Given the description of an element on the screen output the (x, y) to click on. 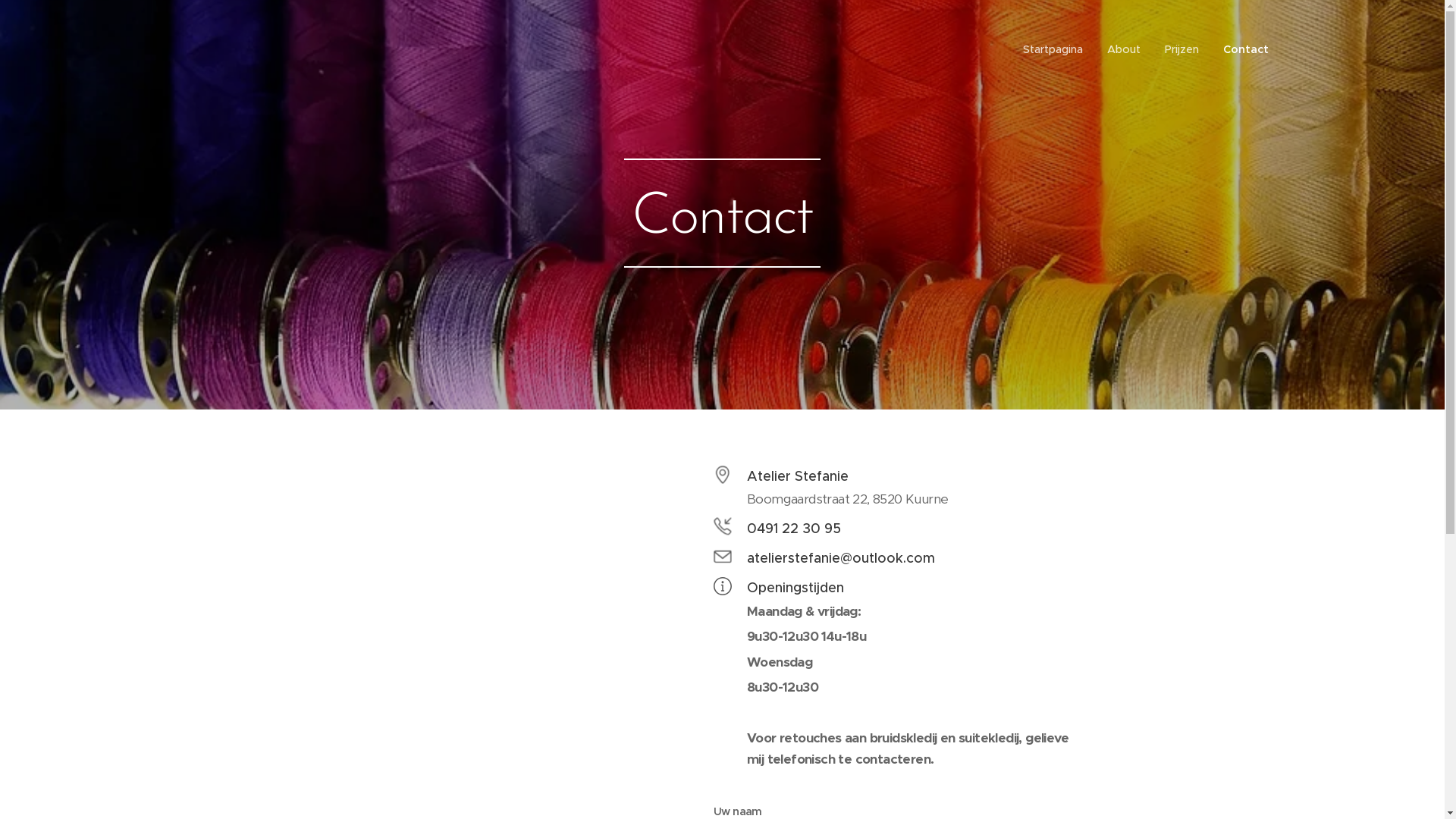
Contact Element type: text (1238, 49)
About Element type: text (1123, 49)
Prijzen Element type: text (1181, 49)
Startpagina Element type: text (1057, 49)
